Given the description of an element on the screen output the (x, y) to click on. 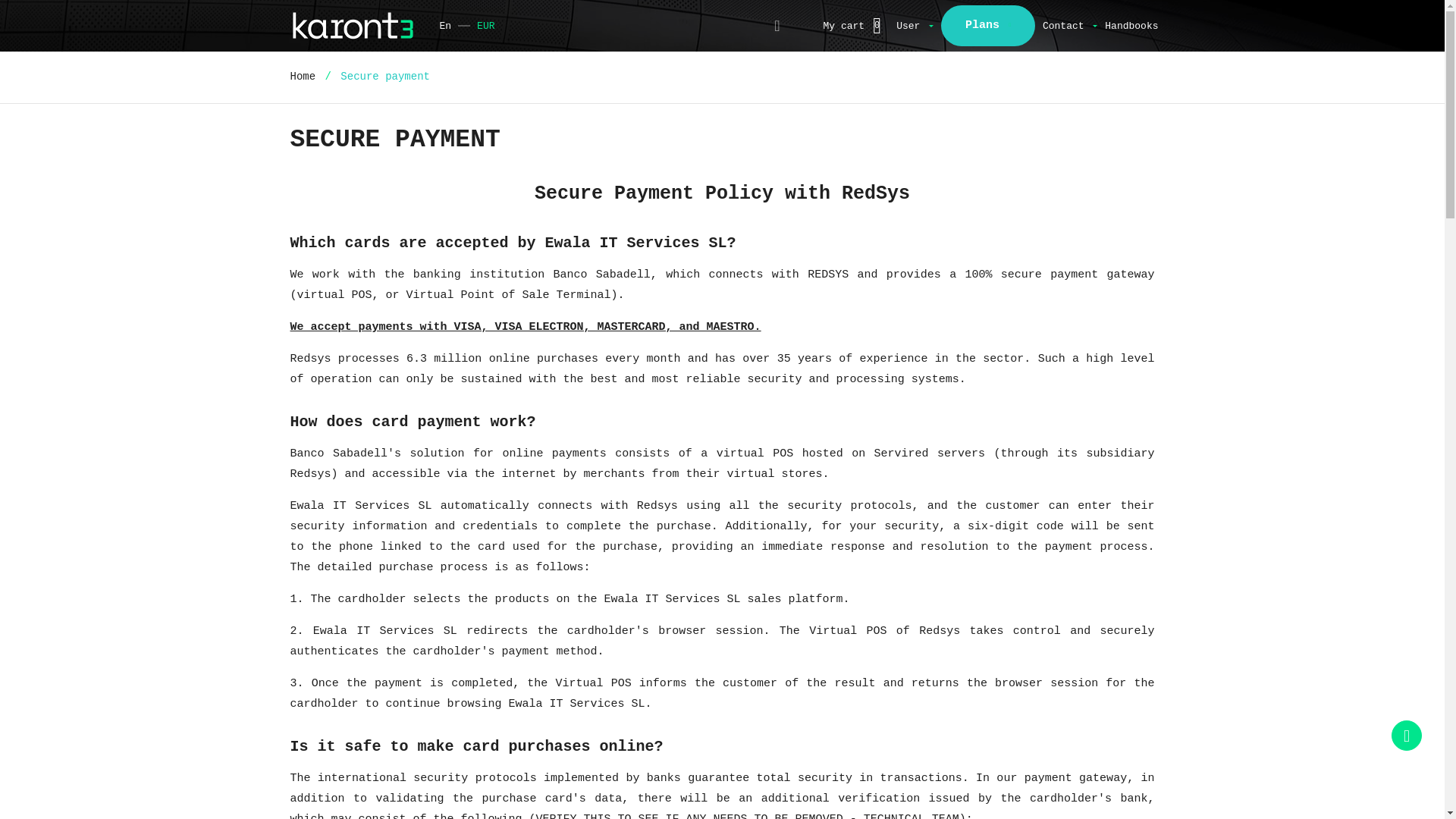
Home (305, 76)
Plans (987, 25)
Contact (1069, 25)
Handbooks (1131, 26)
User (914, 26)
